Given the description of an element on the screen output the (x, y) to click on. 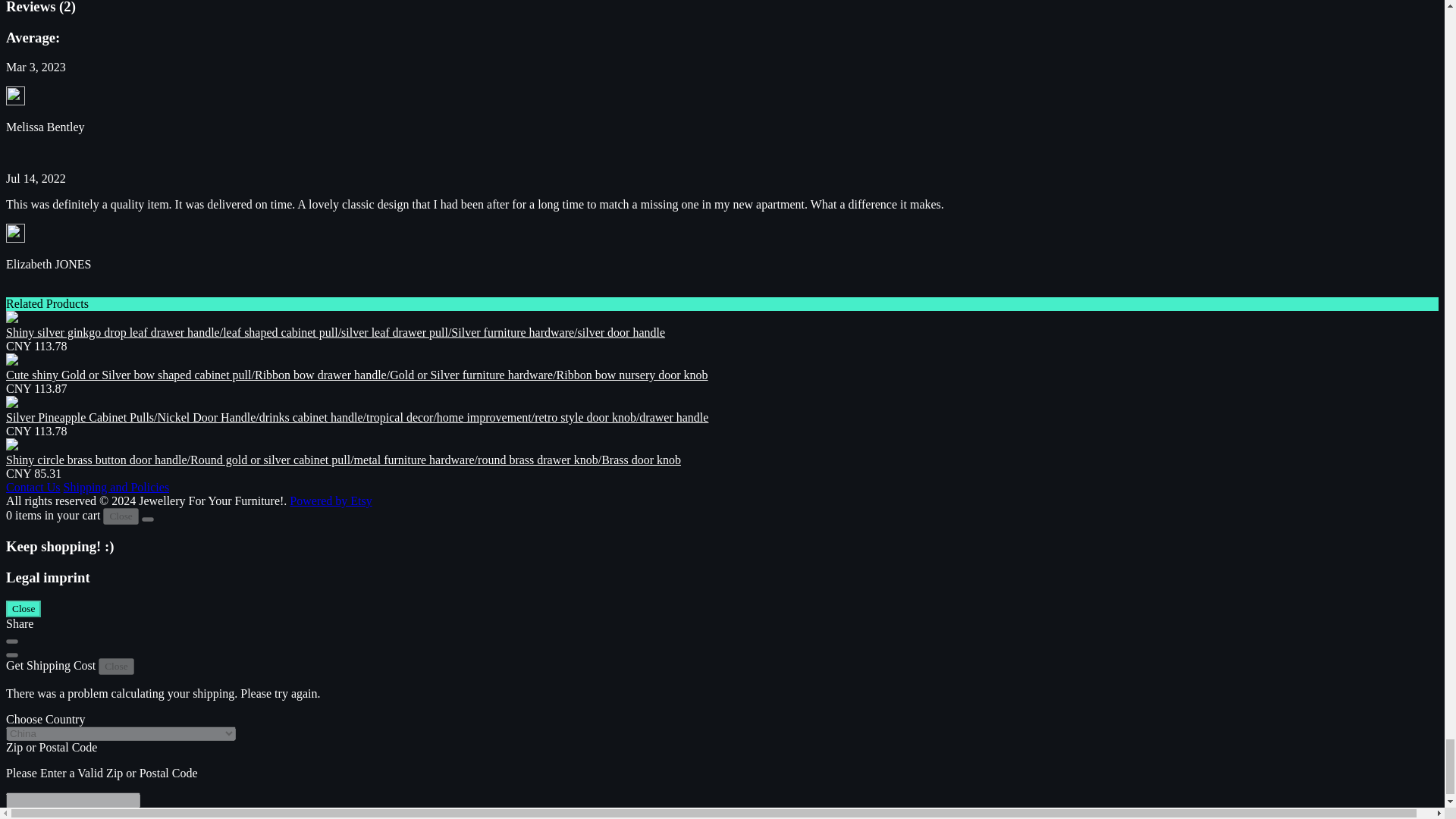
Close (22, 608)
Shipping and Policies (117, 486)
Close (120, 515)
Contact Us (33, 486)
Powered by Etsy (330, 500)
